Given the description of an element on the screen output the (x, y) to click on. 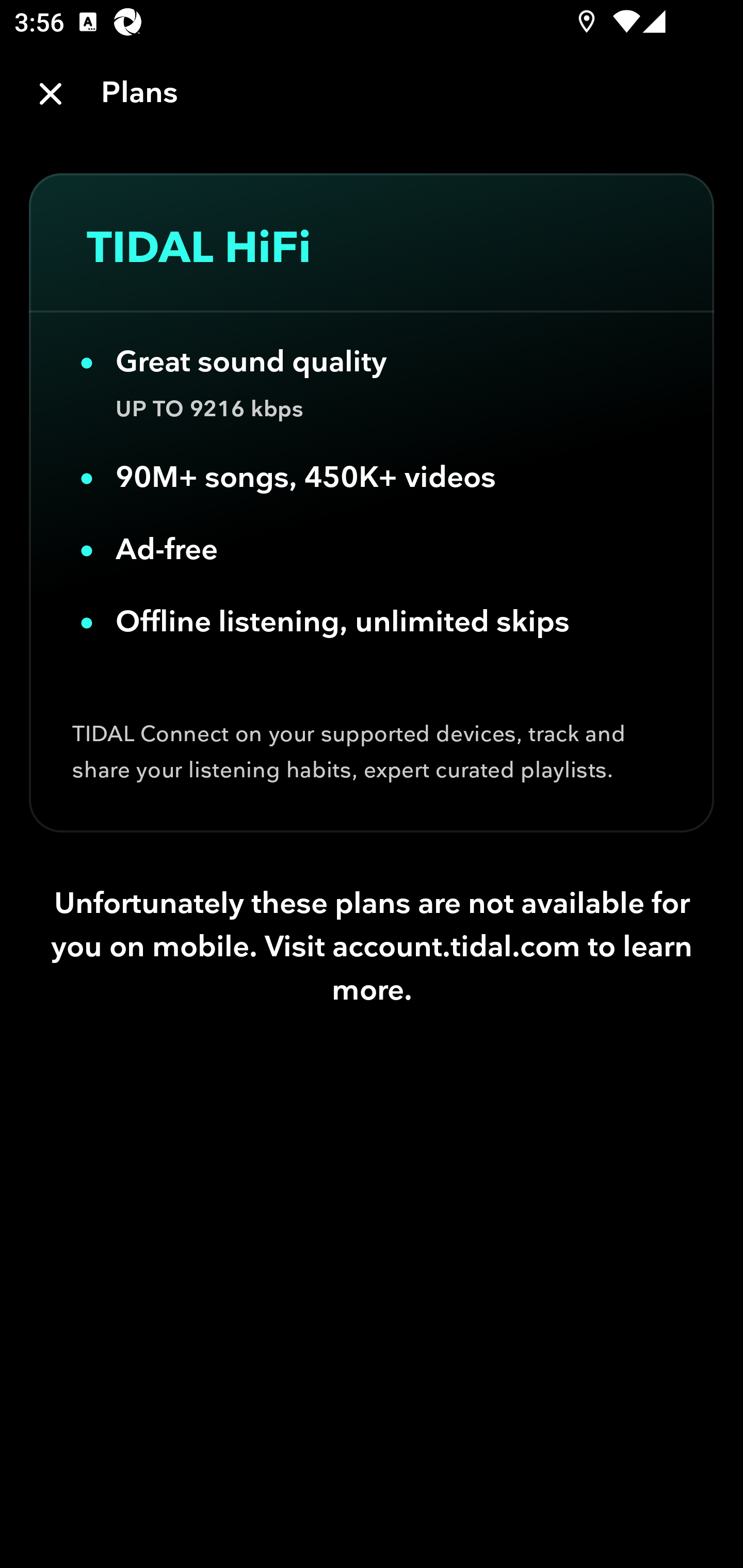
Close (50, 93)
